Given the description of an element on the screen output the (x, y) to click on. 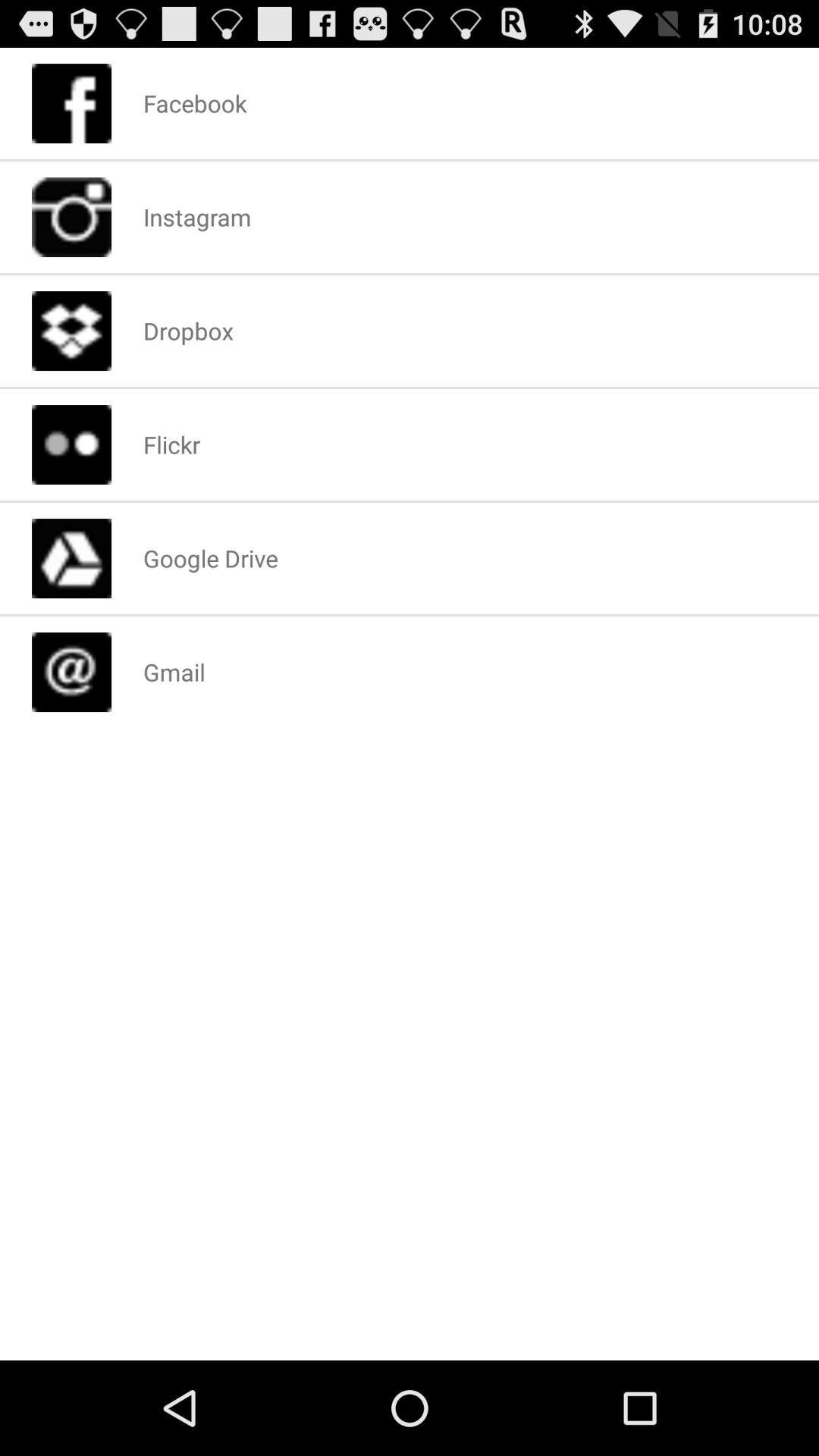
swipe until instagram item (197, 216)
